Given the description of an element on the screen output the (x, y) to click on. 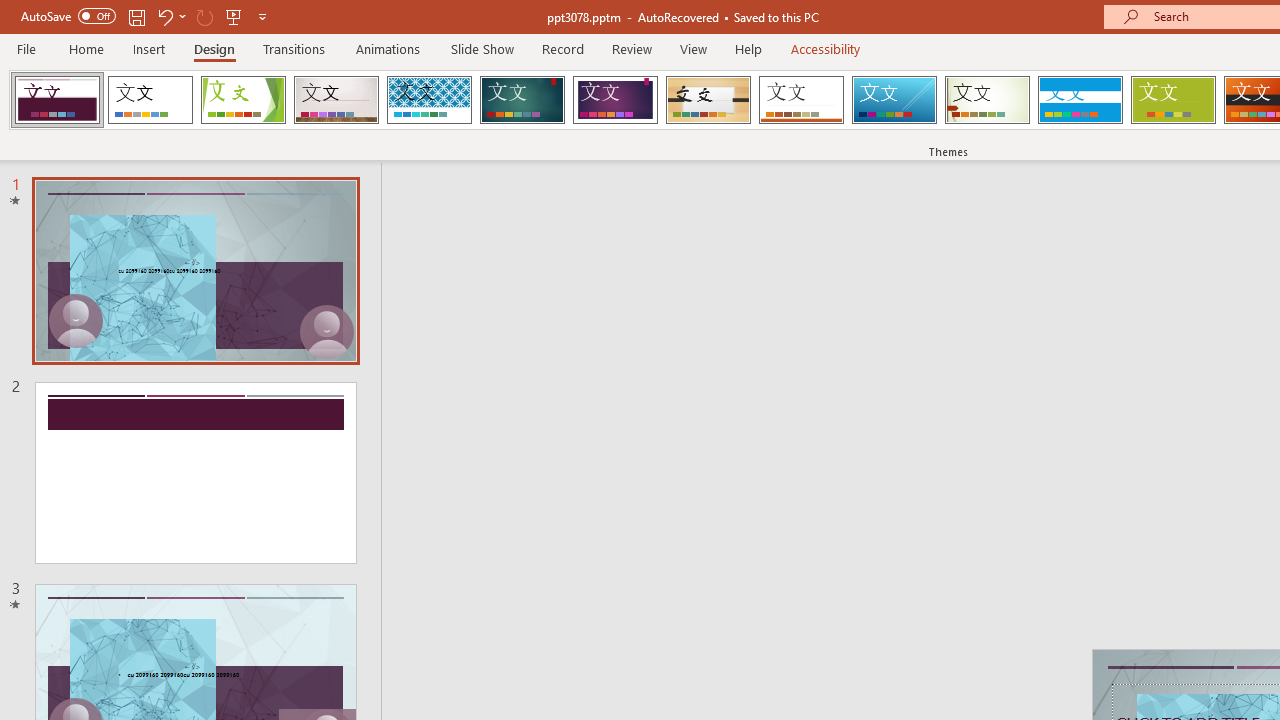
Integral (429, 100)
Dividend (57, 100)
Retrospect (801, 100)
Basis (1172, 100)
Wisp (987, 100)
Office Theme (150, 100)
Ion (522, 100)
Organic (708, 100)
